Given the description of an element on the screen output the (x, y) to click on. 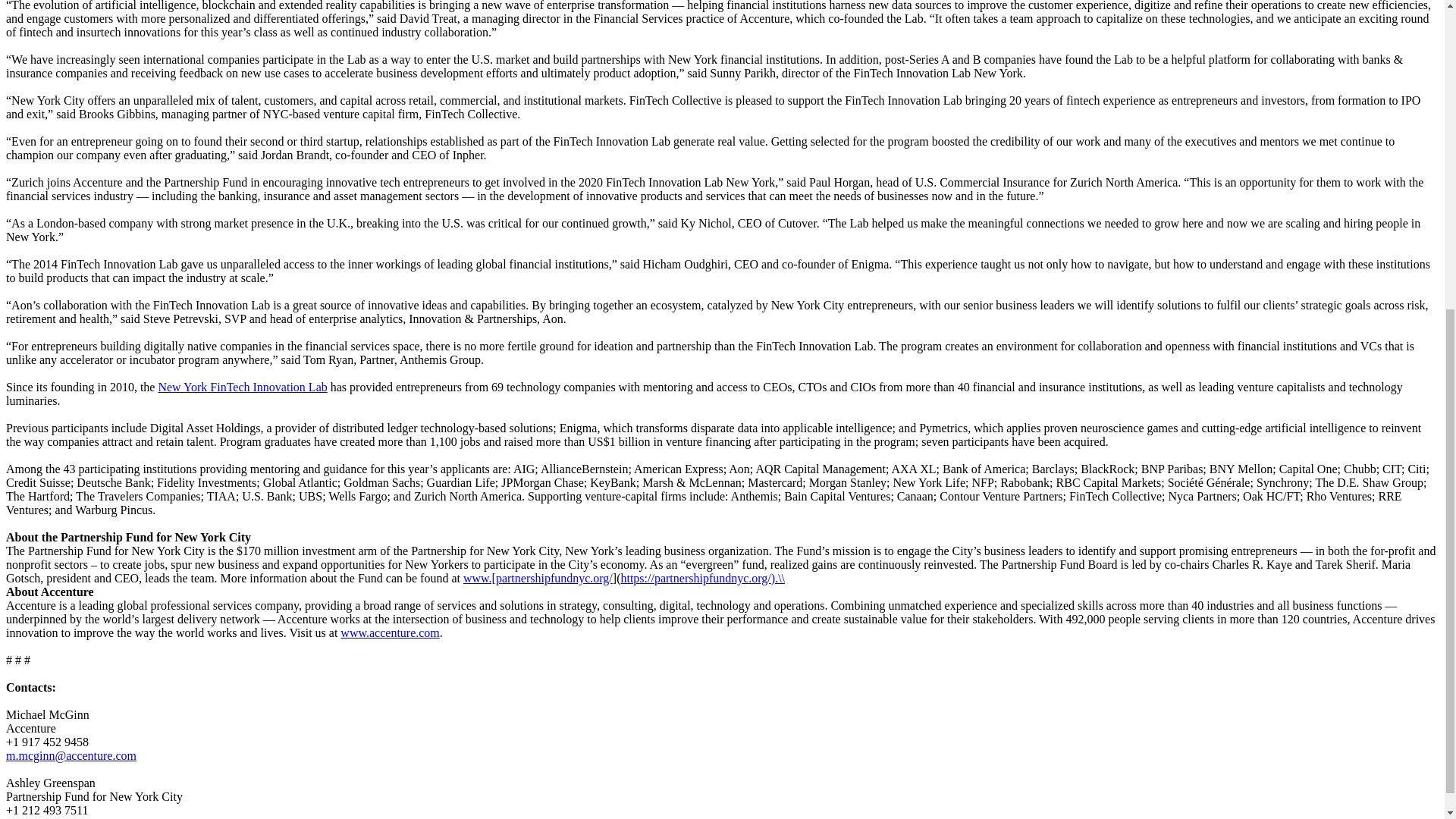
www.accenture.com (389, 632)
New York FinTech Innovation Lab (241, 386)
